Given the description of an element on the screen output the (x, y) to click on. 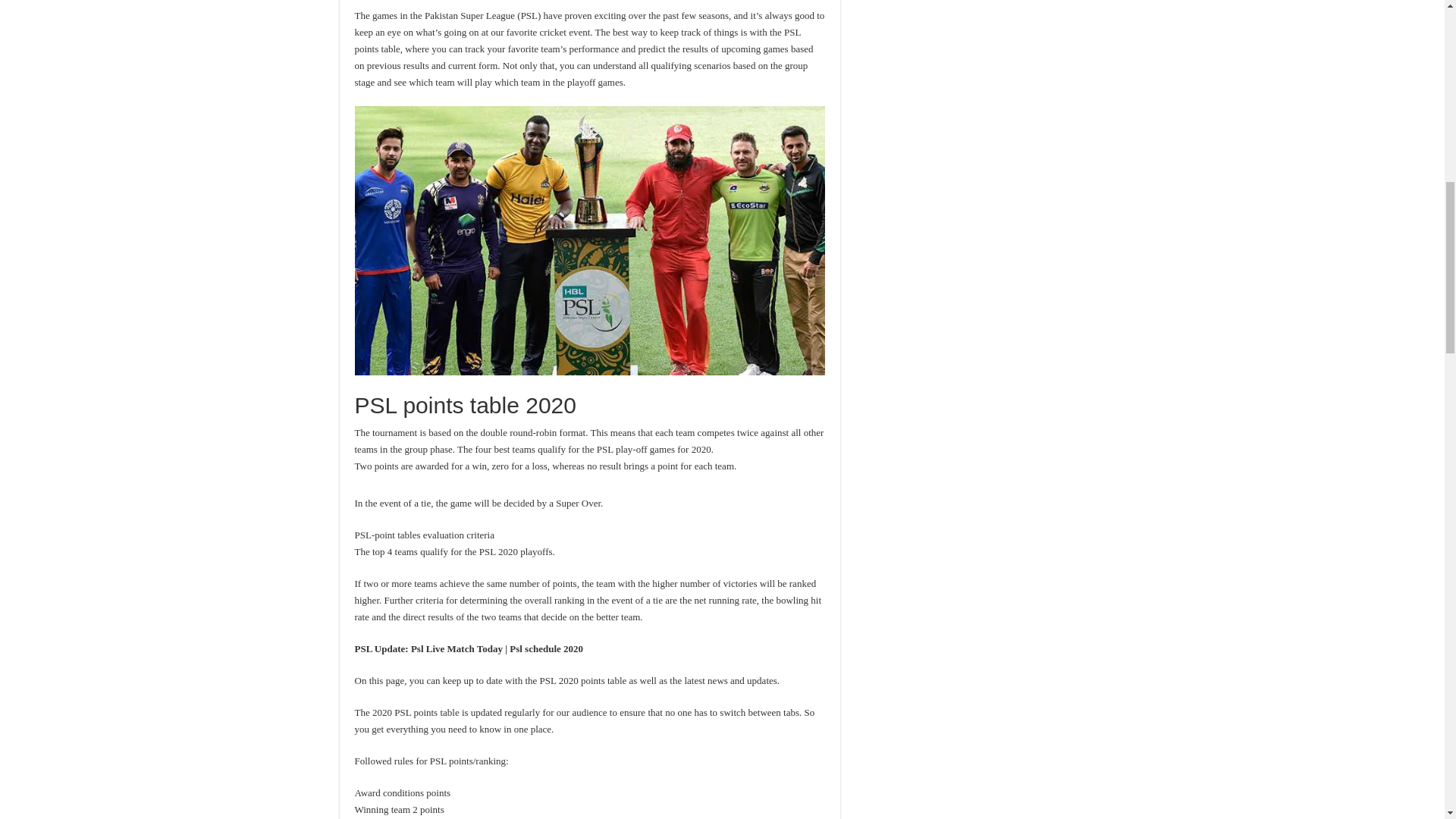
Scroll To Top (1421, 60)
Advertisement (590, 3)
